Given the description of an element on the screen output the (x, y) to click on. 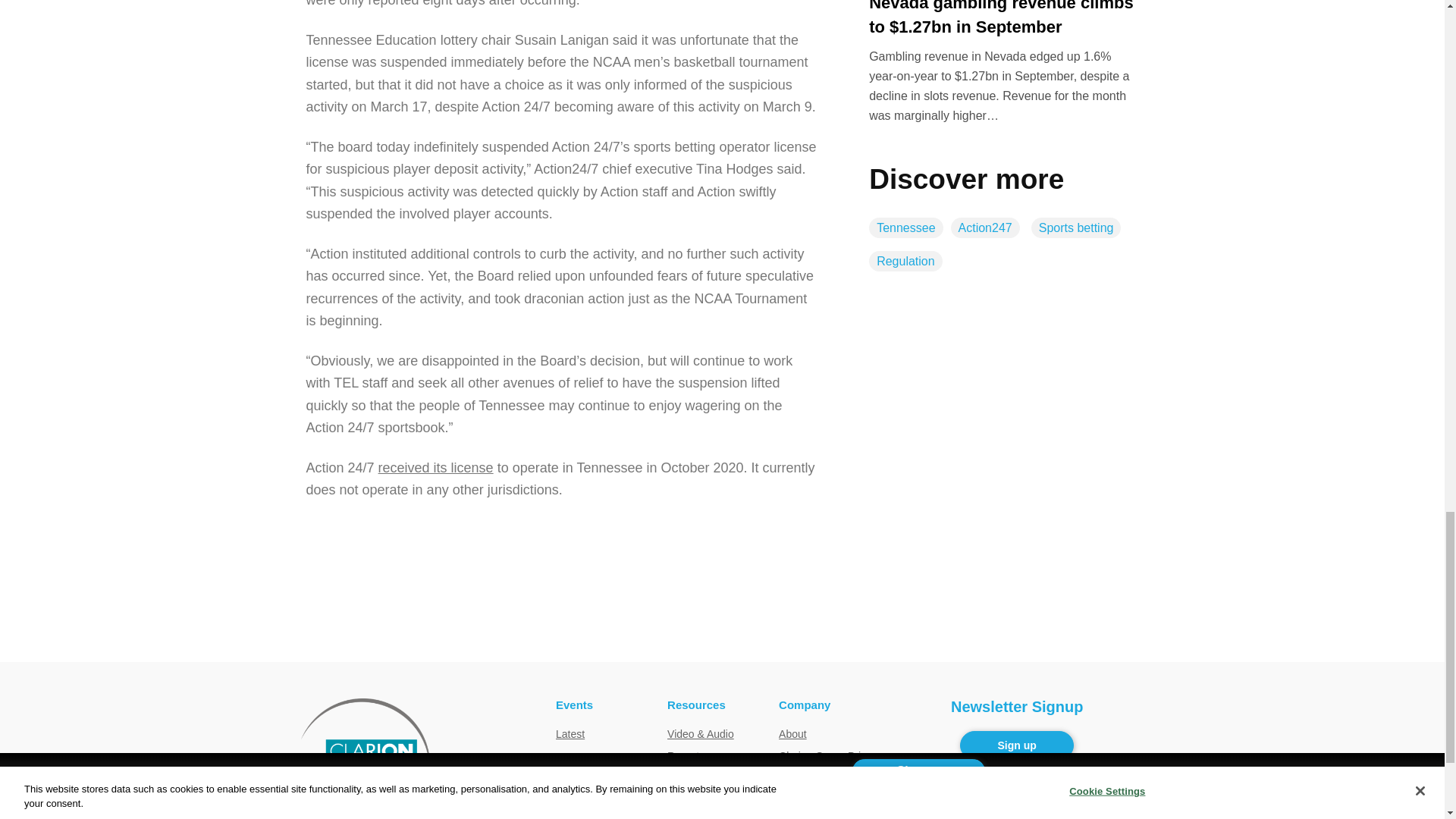
3rd party ad content (721, 612)
